Given the description of an element on the screen output the (x, y) to click on. 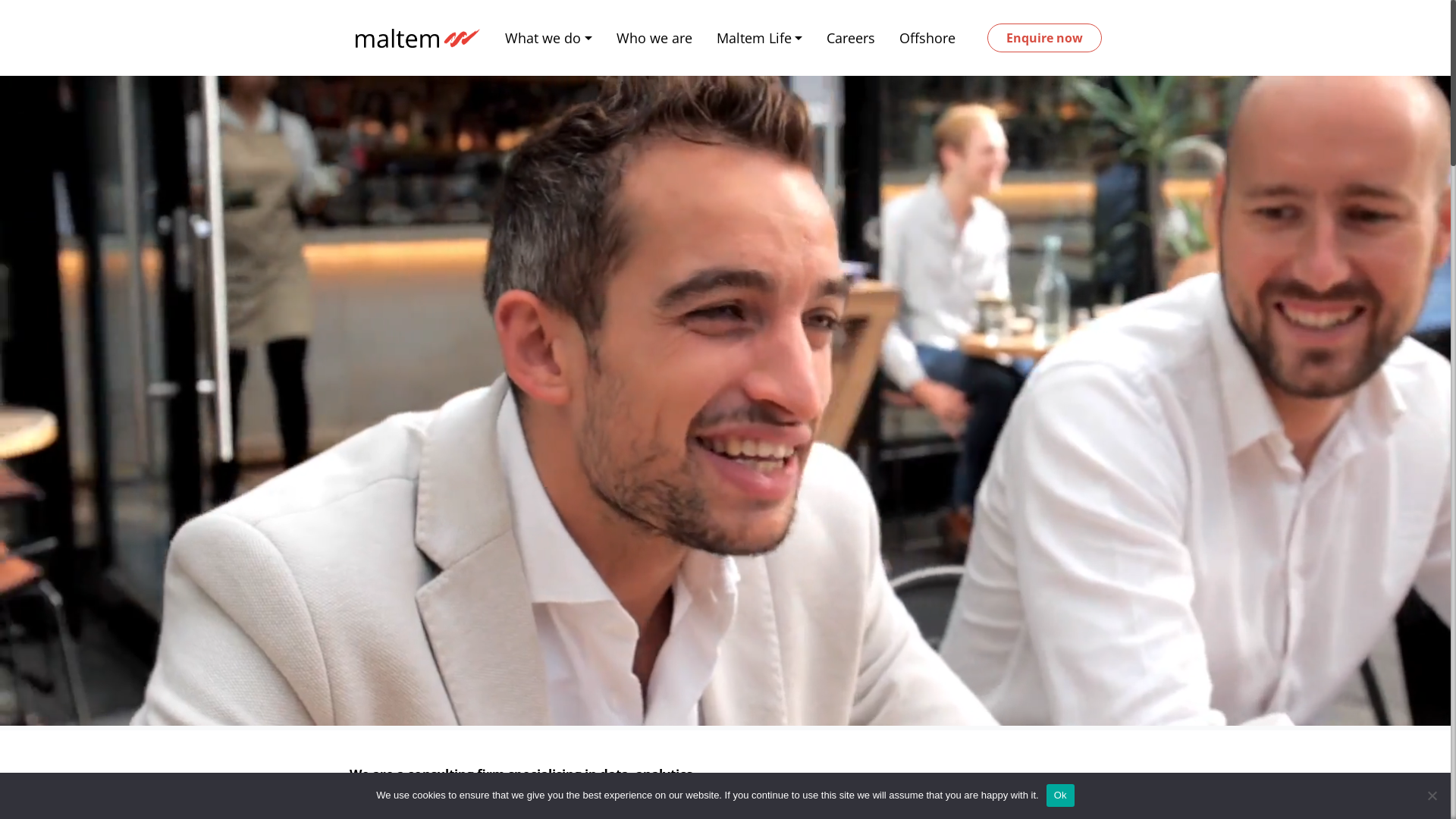
Maltem Element type: hover (414, 37)
Who we are Element type: text (654, 37)
Offshore Element type: text (927, 37)
Careers Element type: text (850, 37)
Ok Element type: text (1060, 795)
Enquire now Element type: text (1044, 37)
What we do Element type: text (548, 37)
No Element type: hover (1431, 795)
